Given the description of an element on the screen output the (x, y) to click on. 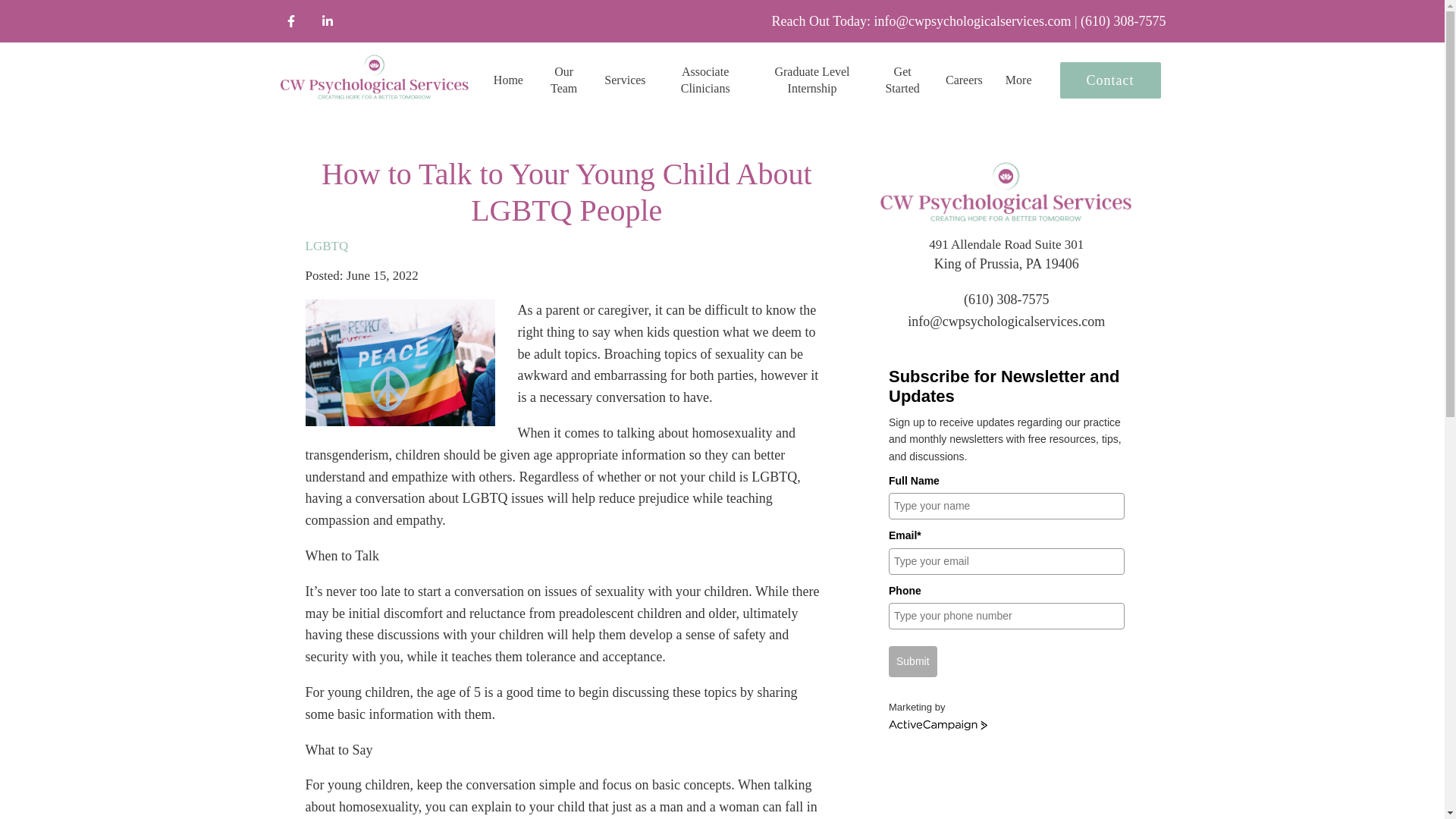
Associate Clinicians (705, 80)
Home (507, 80)
Our Team (563, 80)
Careers (963, 80)
Services (624, 80)
Get Started (902, 80)
Graduate Level Internship (812, 80)
